Given the description of an element on the screen output the (x, y) to click on. 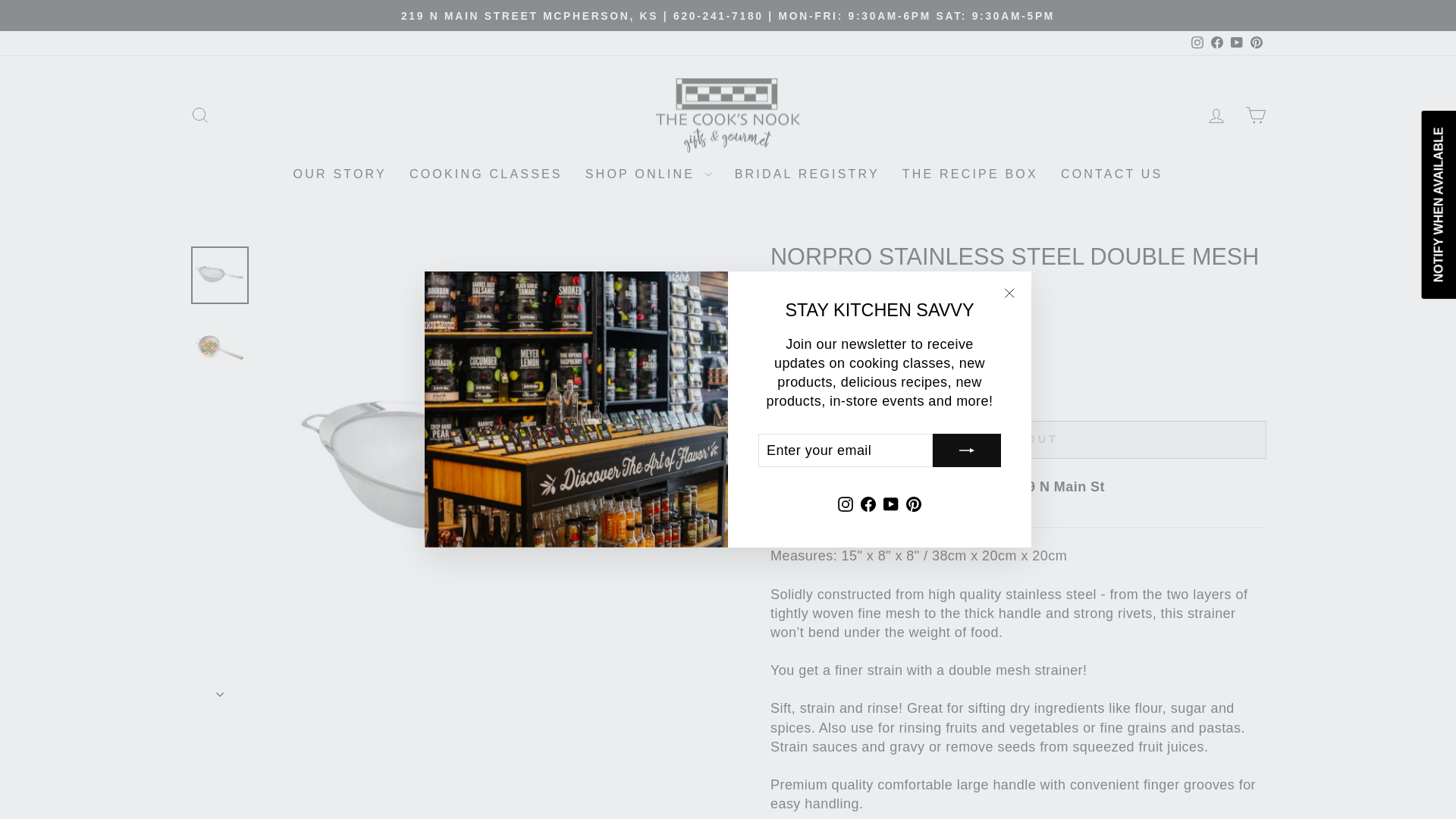
1 (800, 387)
icon-chevron (219, 694)
ICON-SEARCH (200, 115)
instagram (1197, 42)
The Cook's Nook on Pinterest (913, 502)
icon-X (1009, 292)
The Cook's Nook on YouTube (890, 502)
ACCOUNT (1216, 115)
The Cook's Nook on Instagram (845, 502)
The Cook's Nook on Instagram (1197, 42)
The Cook's Nook on YouTube (1236, 42)
The Cook's Nook on Pinterest (1256, 42)
The Cook's Nook on Facebook (1217, 42)
The Cook's Nook on Facebook (868, 502)
